Given the description of an element on the screen output the (x, y) to click on. 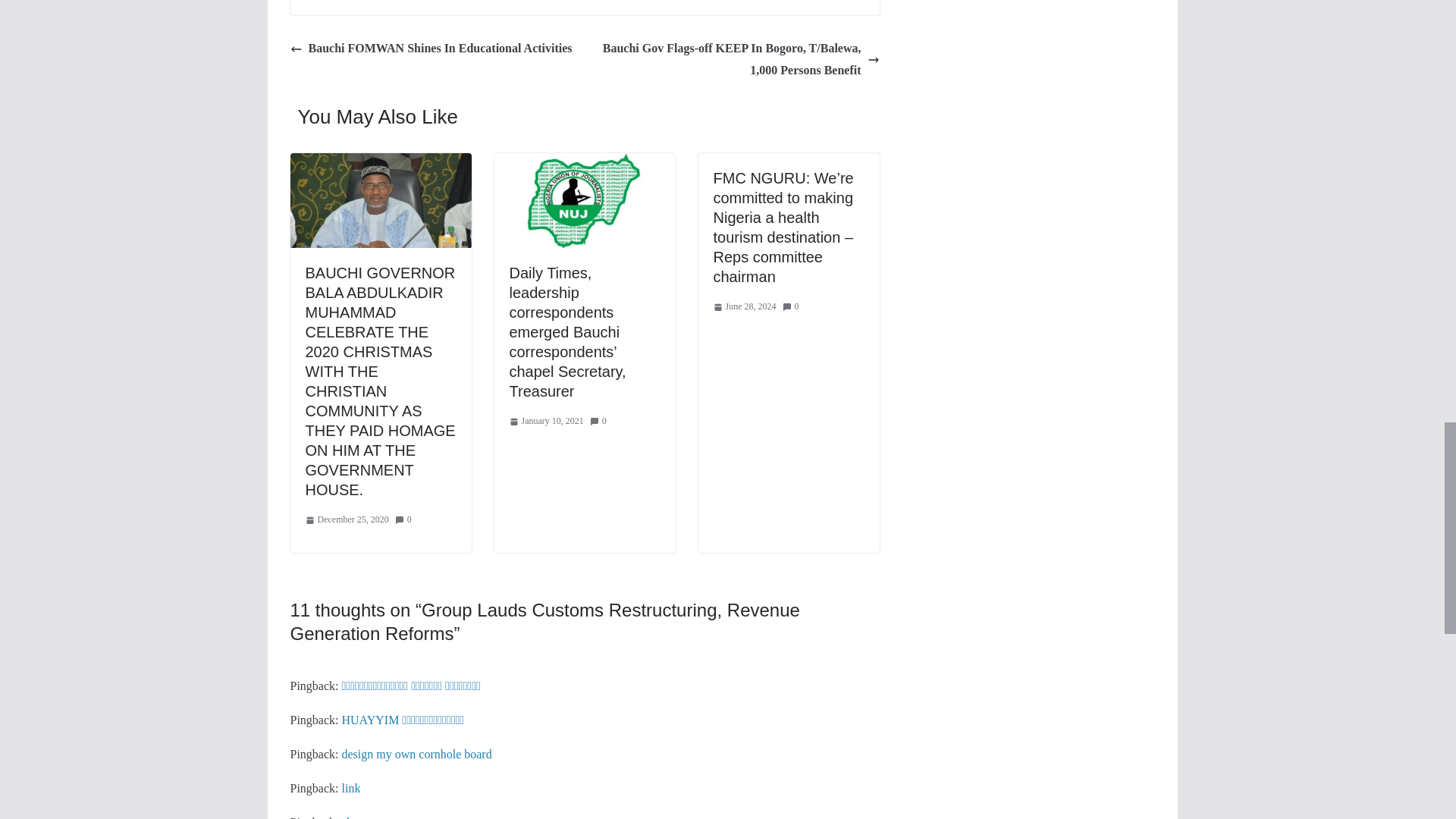
Bauchi FOMWAN Shines In Educational Activities (430, 48)
December 25, 2020 (346, 519)
